Given the description of an element on the screen output the (x, y) to click on. 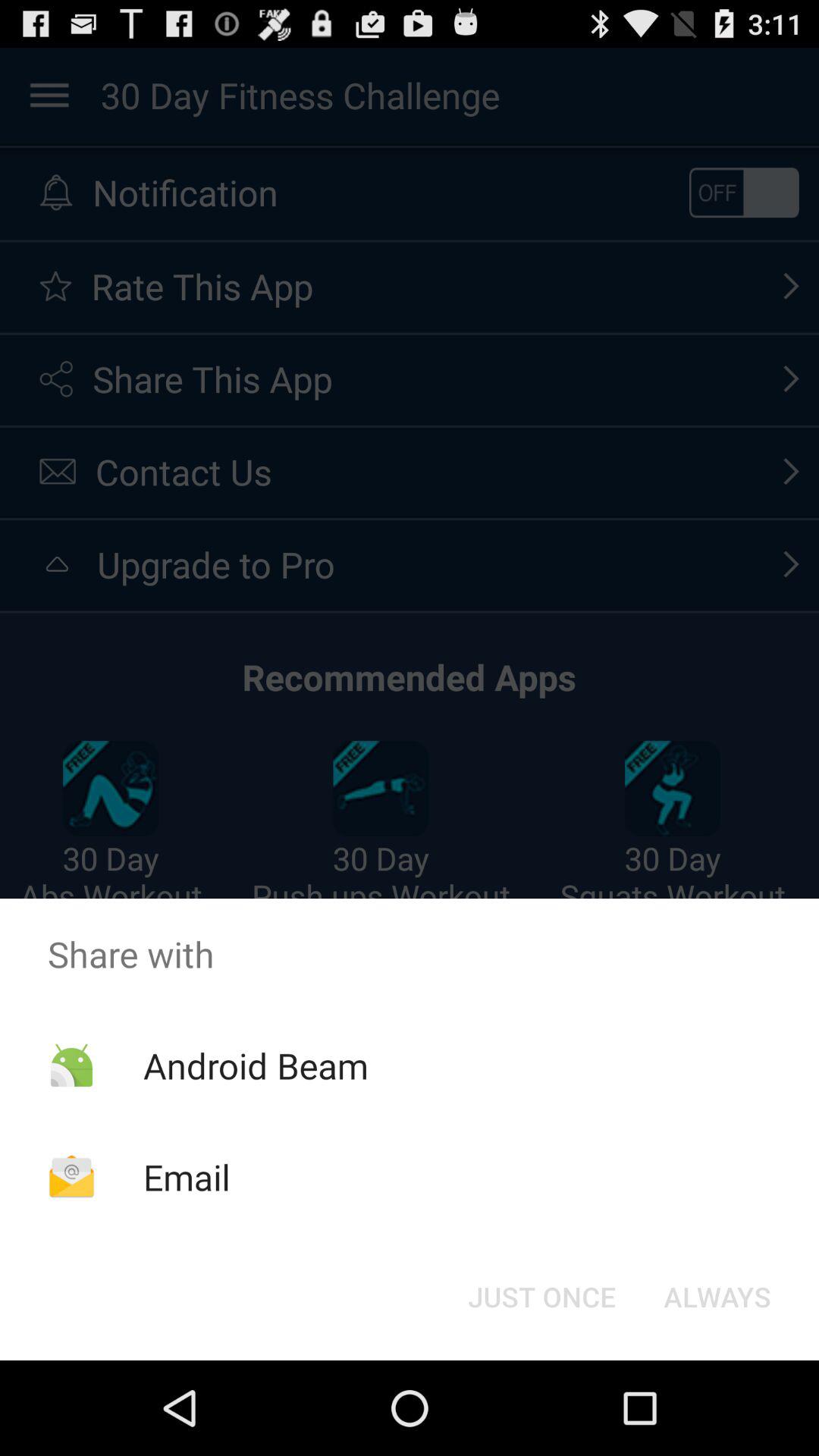
turn off always (717, 1296)
